Given the description of an element on the screen output the (x, y) to click on. 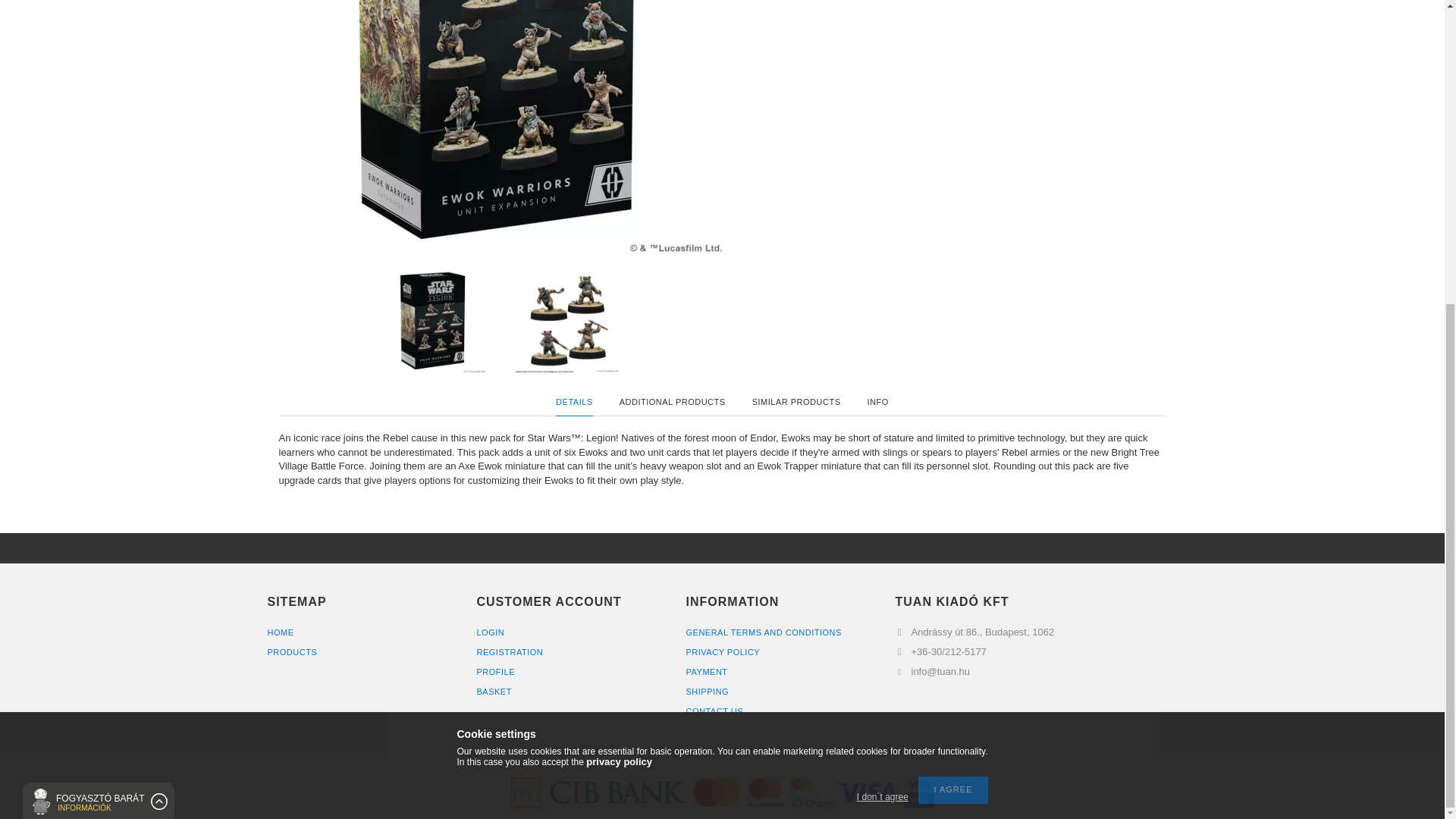
STAR WARS: LEGION - EWOK WARRIORS UNIT EXPANSION (433, 321)
I Agree (952, 312)
STAR WARS: LEGION - EWOK WARRIORS UNIT EXPANSION (500, 127)
STAR WARS: LEGION - EWOK WARRIORS UNIT EXPANSION (567, 321)
